Given the description of an element on the screen output the (x, y) to click on. 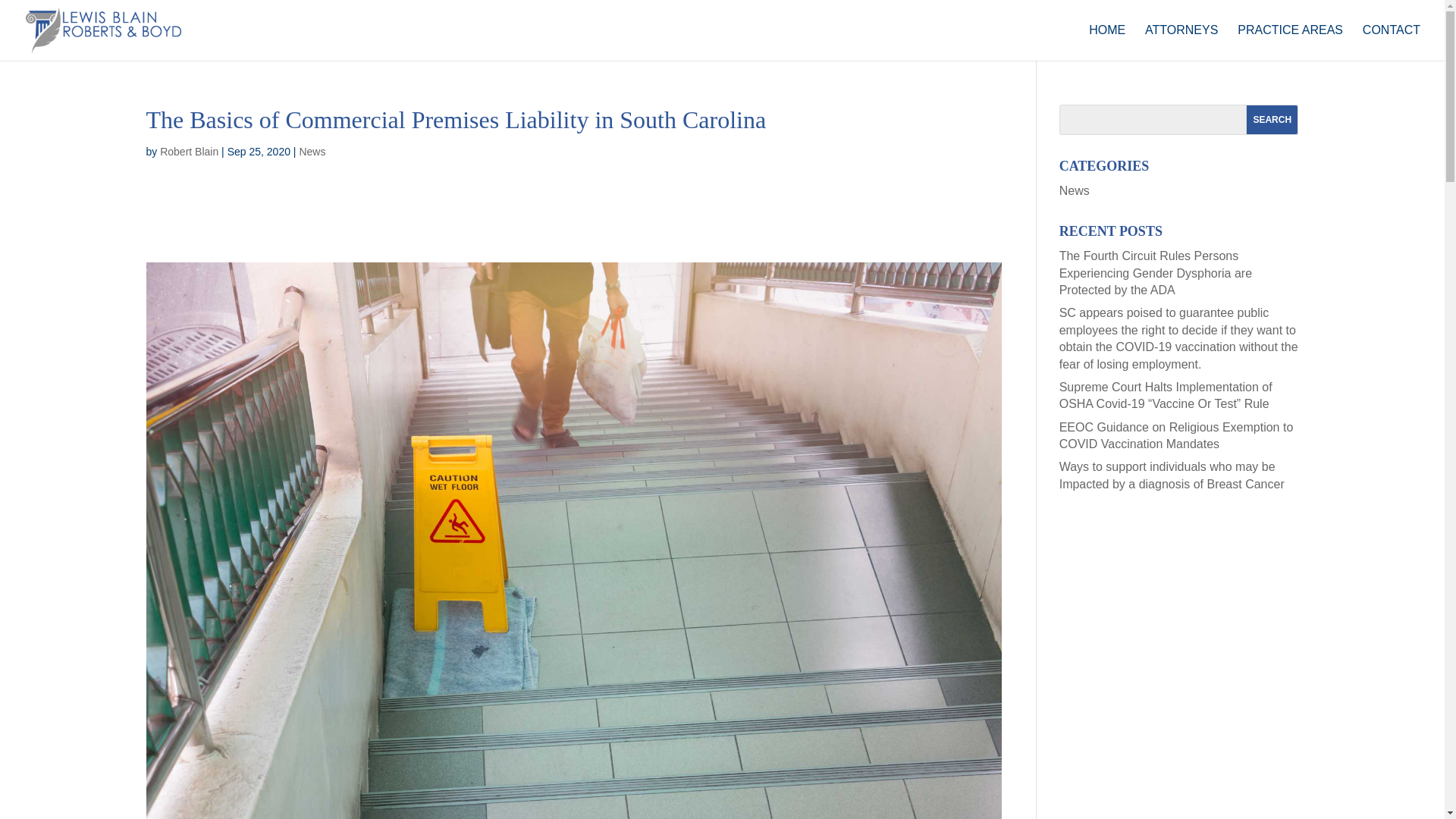
CONTACT (1391, 42)
Robert Blain (189, 151)
News (311, 151)
ATTORNEYS (1180, 42)
HOME (1107, 42)
Search (1272, 119)
PRACTICE AREAS (1289, 42)
Search (1272, 119)
News (1074, 190)
Posts by Robert Blain (189, 151)
